Given the description of an element on the screen output the (x, y) to click on. 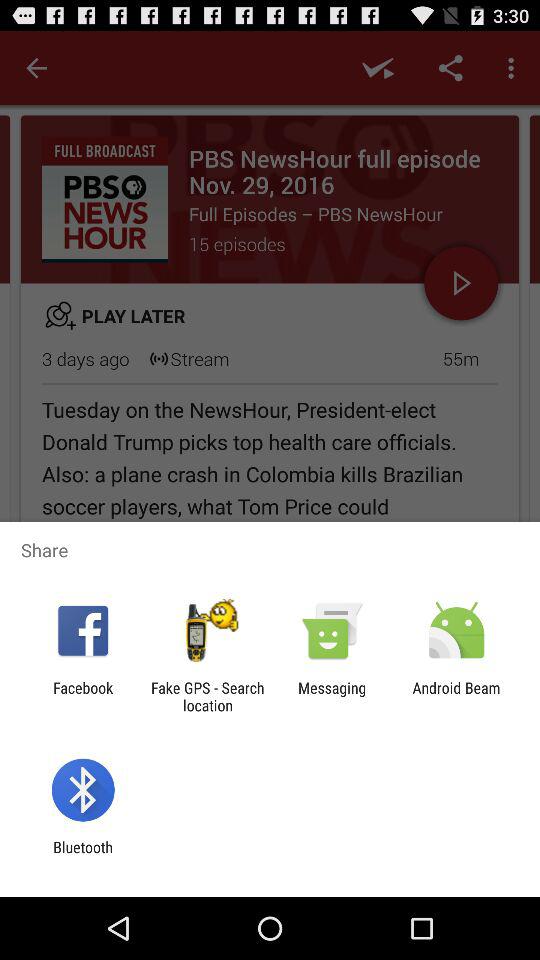
launch item next to the facebook icon (207, 696)
